Given the description of an element on the screen output the (x, y) to click on. 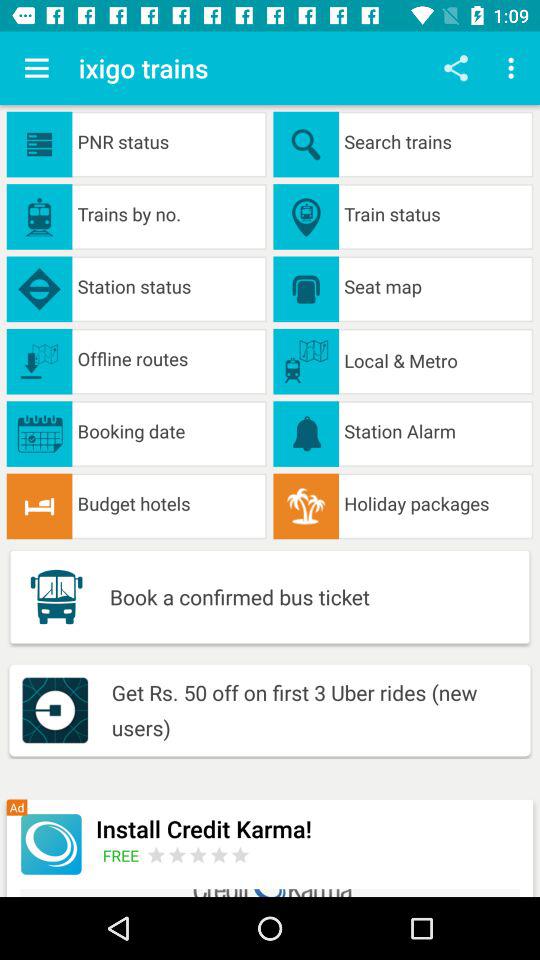
rate the app (197, 854)
